Given the description of an element on the screen output the (x, y) to click on. 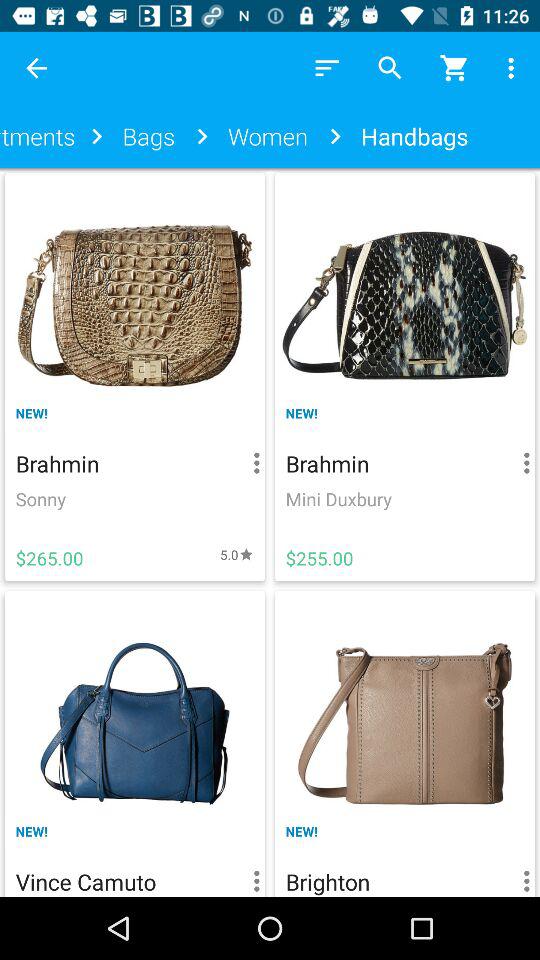
click on the option button which is right side of the text brahmin (251, 462)
click on brighton handbag (405, 740)
click on trolly icon (454, 67)
select the button right to the brahmin (521, 462)
click on more option at right side of trolly icon (514, 68)
